Given the description of an element on the screen output the (x, y) to click on. 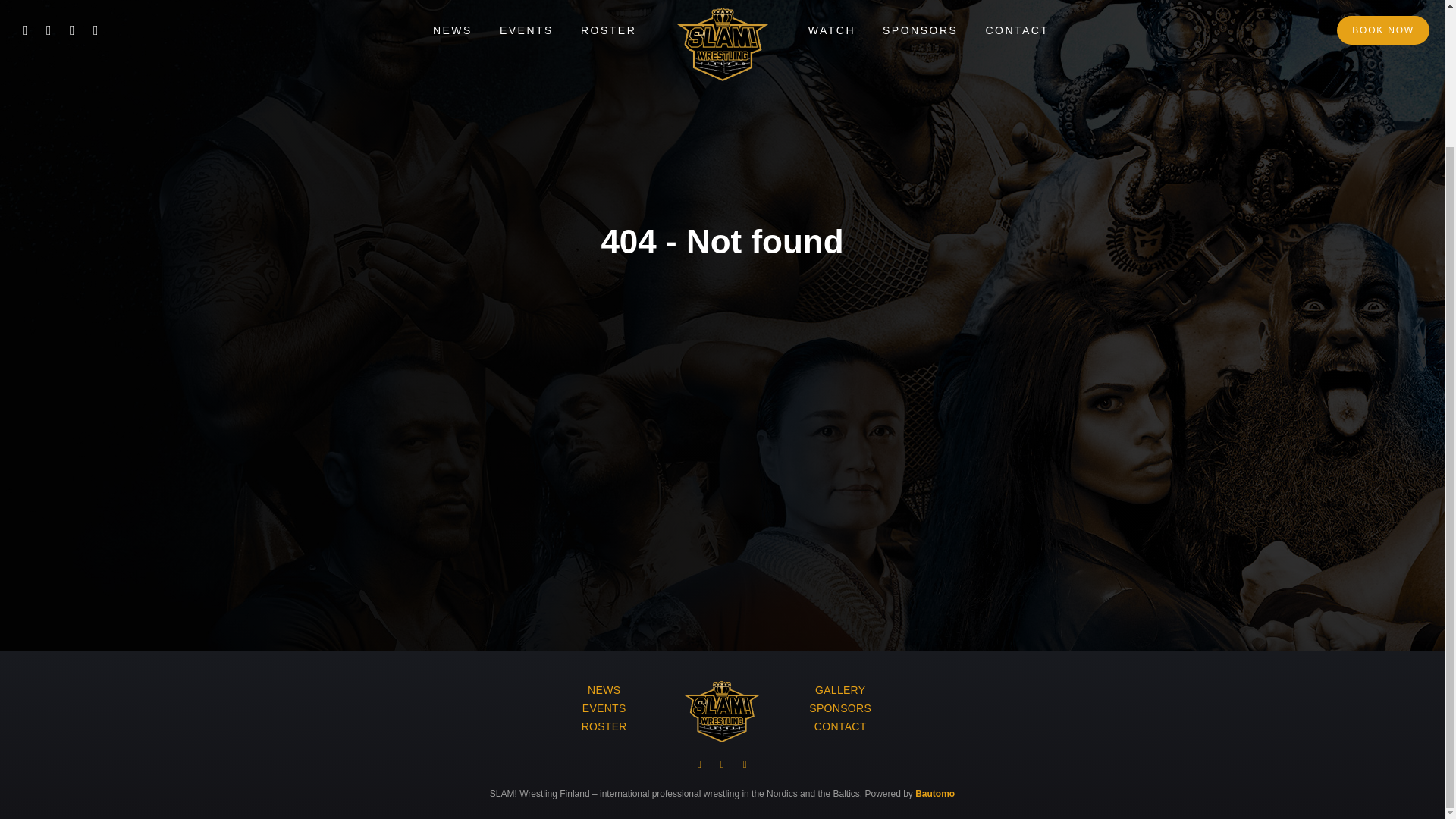
GALLERY (839, 689)
SPONSORS (839, 707)
NEWS (604, 689)
EVENTS (604, 707)
CONTACT (839, 726)
ROSTER (603, 726)
Bautomo (935, 793)
